Given the description of an element on the screen output the (x, y) to click on. 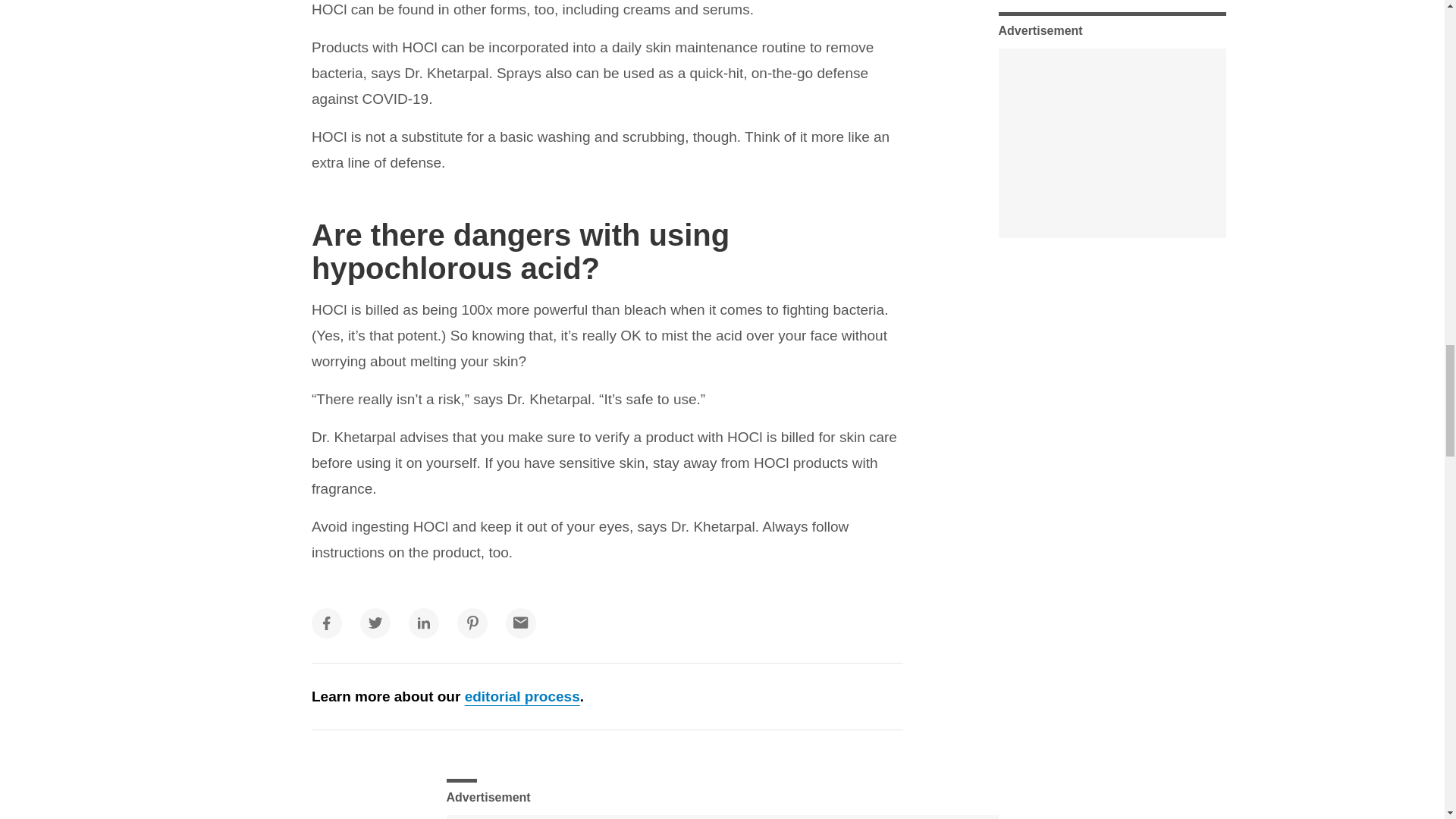
editorial process (521, 696)
